Given the description of an element on the screen output the (x, y) to click on. 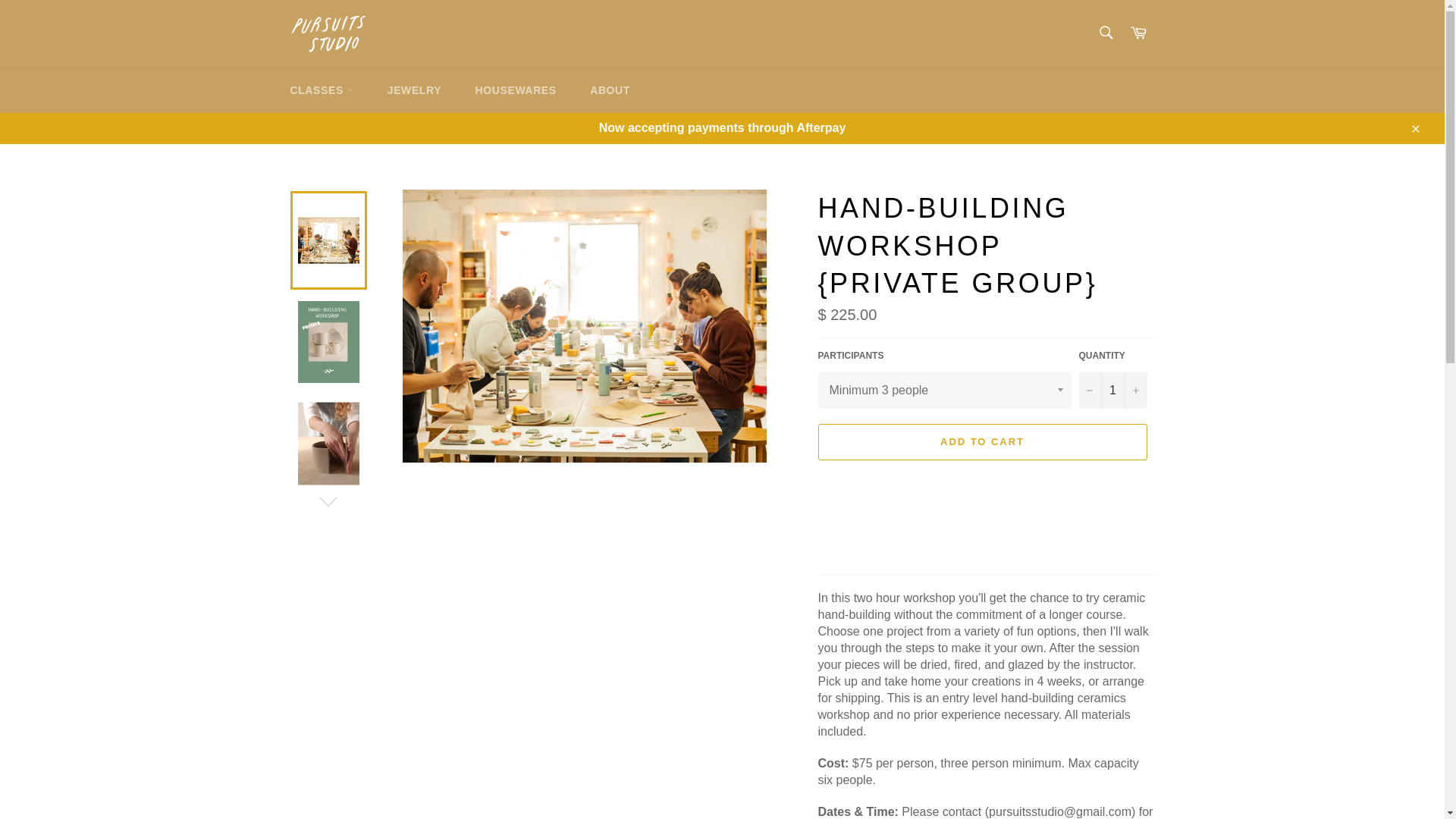
JEWELRY (414, 90)
Close (1414, 128)
Search (1104, 32)
ABOUT (610, 90)
1 (1112, 390)
CLASSES (321, 90)
HOUSEWARES (516, 90)
Cart (1138, 33)
